Given the description of an element on the screen output the (x, y) to click on. 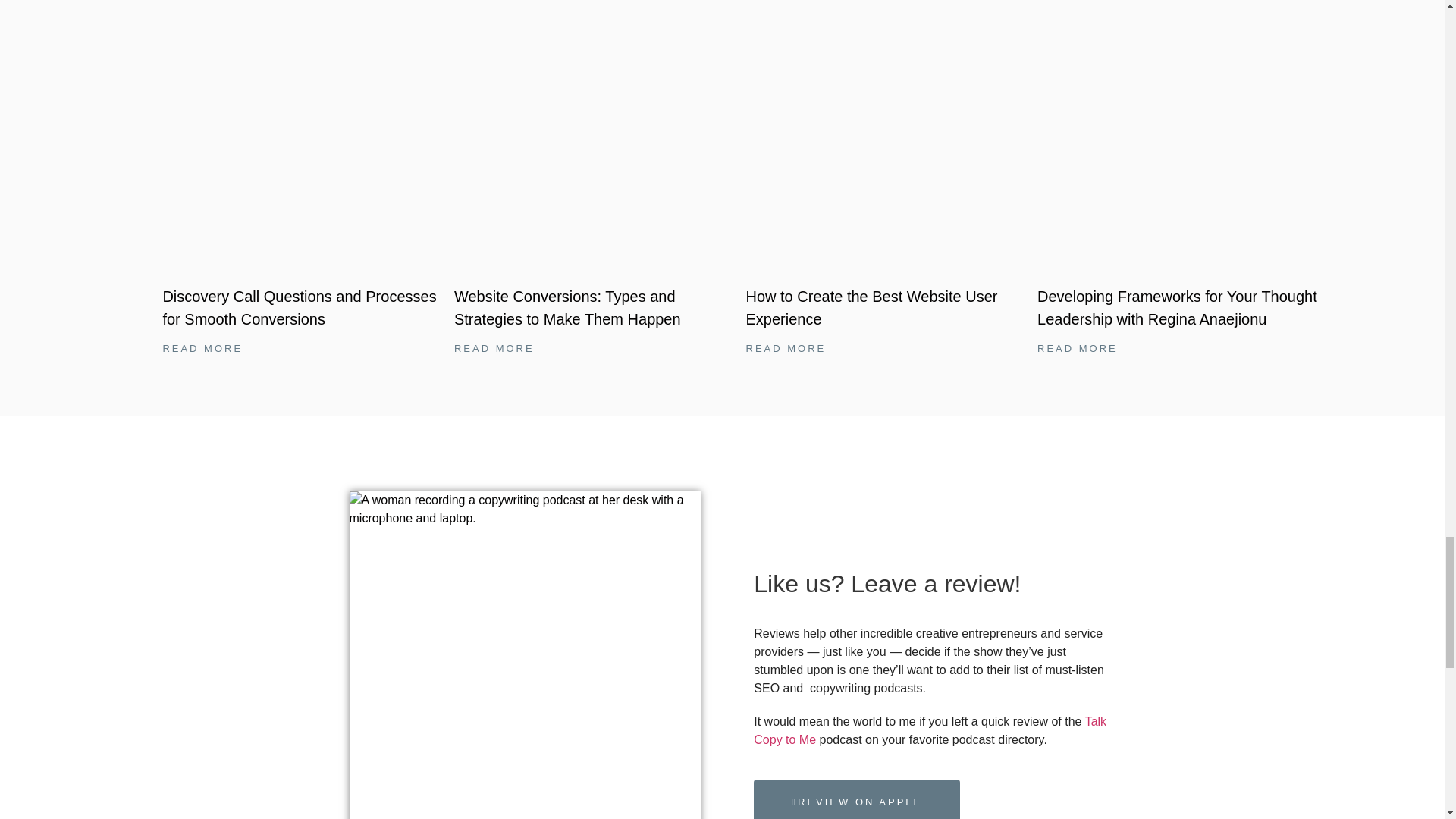
READ MORE (494, 348)
READ MORE (786, 348)
How to Create the Best Website User Experience (871, 307)
READ MORE (1077, 348)
READ MORE (202, 348)
Talk Copy to Me (930, 730)
